Given the description of an element on the screen output the (x, y) to click on. 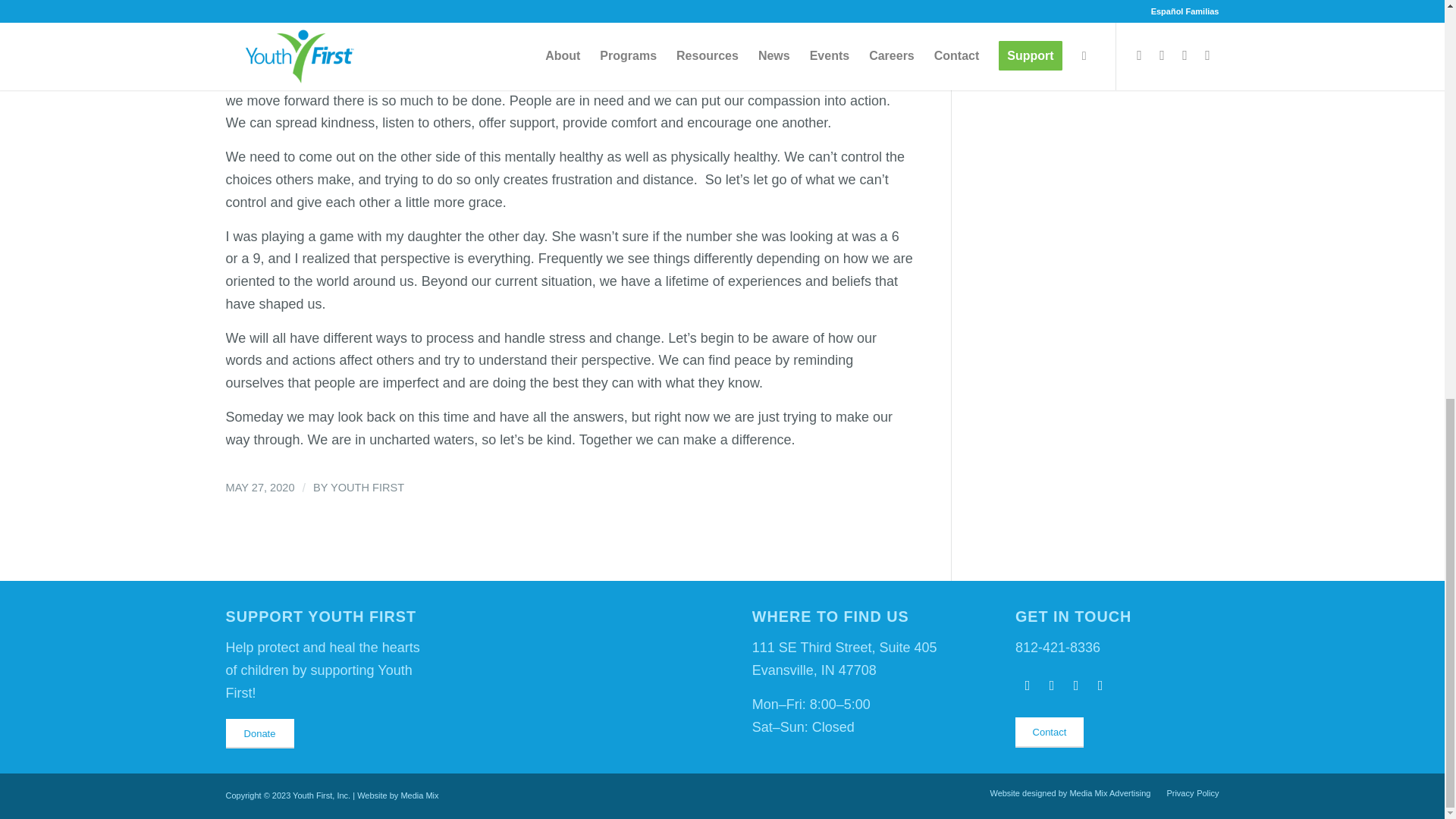
Posts by Youth First (367, 487)
